Given the description of an element on the screen output the (x, y) to click on. 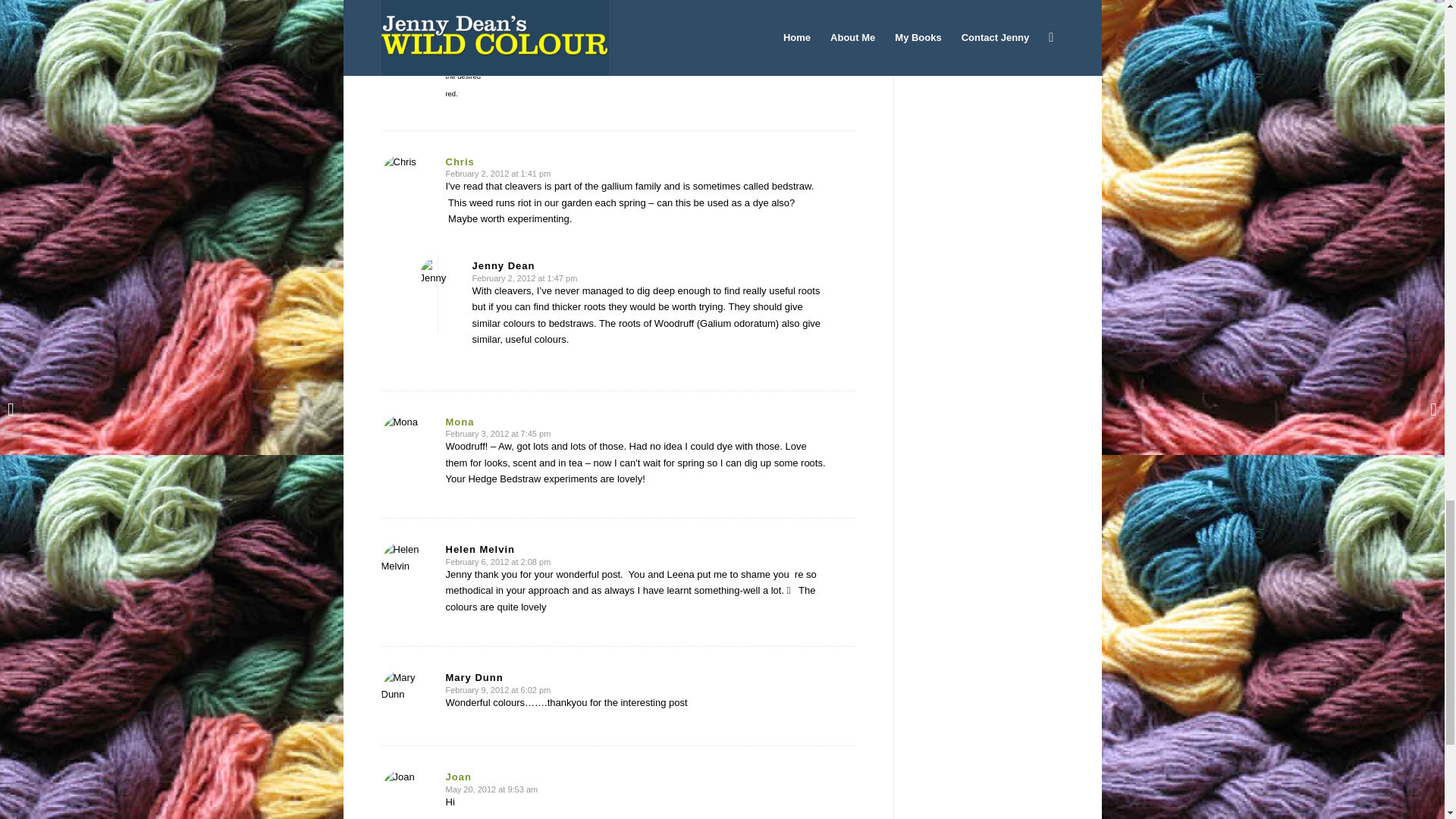
Mona (459, 421)
Chris (459, 161)
May 20, 2012 at 9:53 am (491, 788)
February 9, 2012 at 6:02 pm (498, 689)
February 2, 2012 at 1:47 pm (523, 277)
February 6, 2012 at 2:08 pm (498, 561)
February 3, 2012 at 7:45 pm (498, 433)
February 2, 2012 at 1:41 pm (498, 173)
Joan (458, 776)
